Given the description of an element on the screen output the (x, y) to click on. 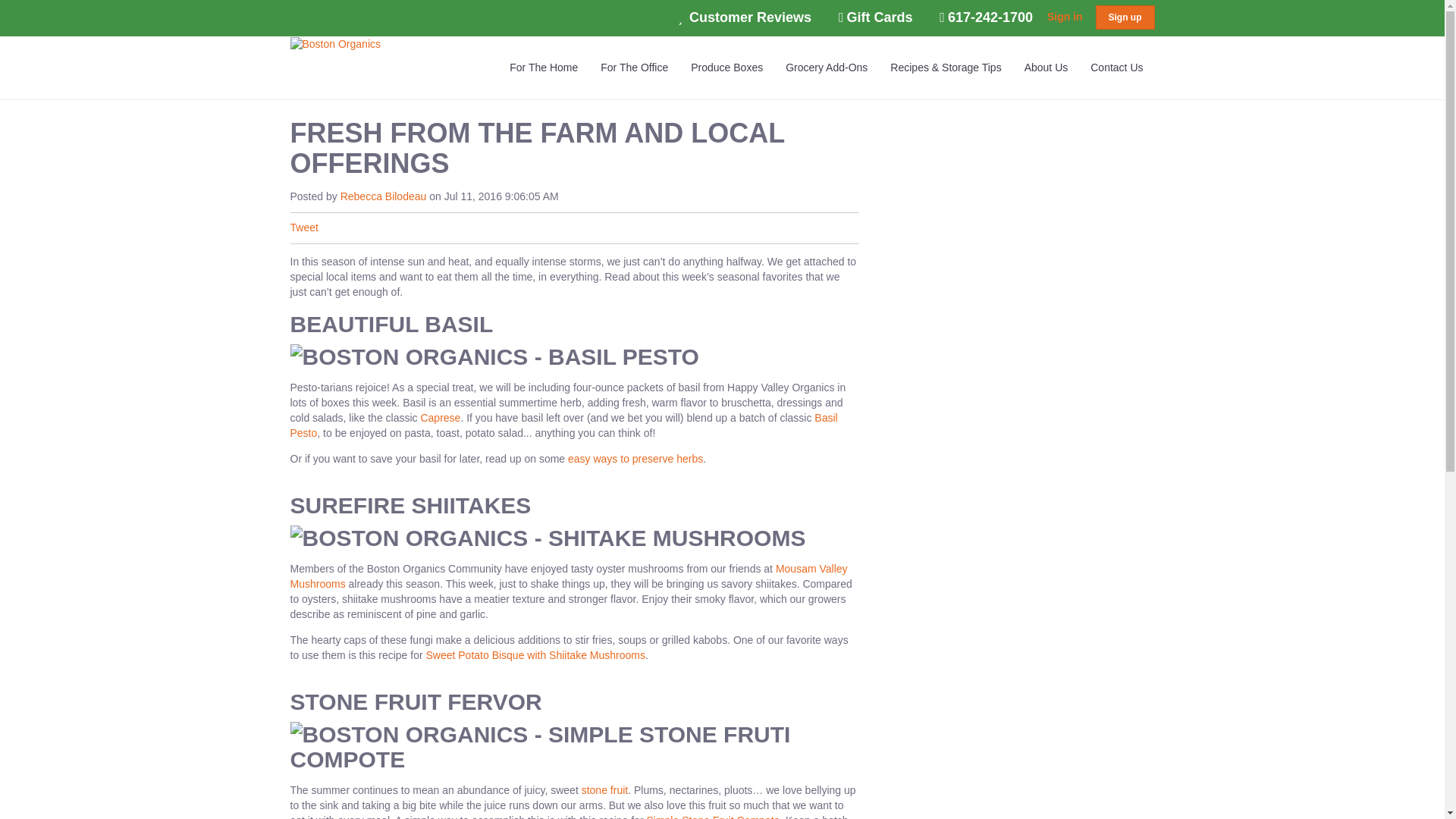
Boston Organics - Shitake Mushrooms (547, 537)
Contact Us (1116, 66)
About Us (1046, 66)
Boston Organics - Simple Stone Fruti Compote (574, 746)
Mousam Valley Mushrooms (568, 575)
Caprese (440, 417)
617-242-1700 (985, 17)
Grocery Add-Ons (826, 66)
easy ways to preserve herbs (635, 458)
Sweet Potato Bisque with Shiitake Mushrooms (535, 654)
